Given the description of an element on the screen output the (x, y) to click on. 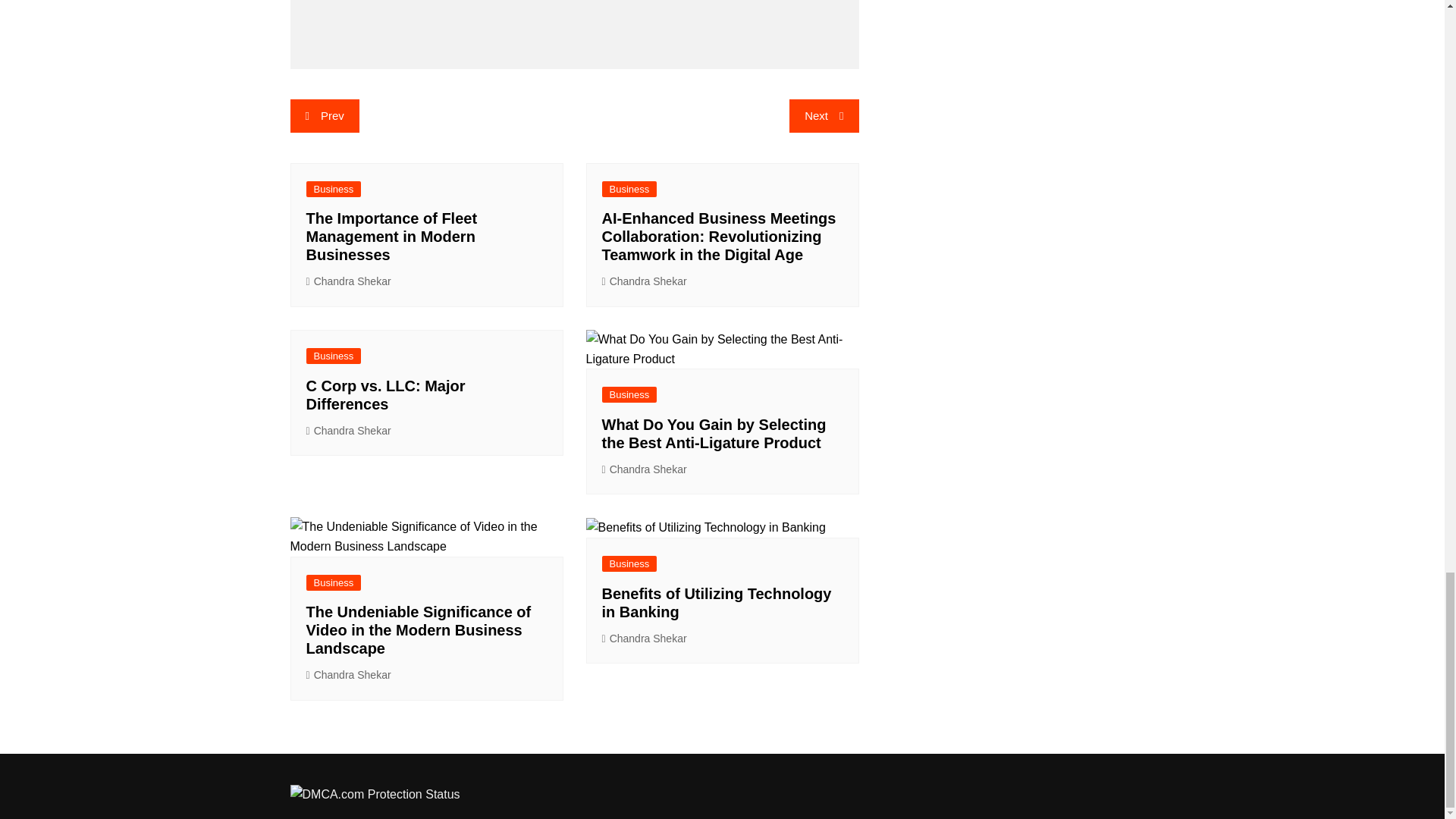
Business (333, 188)
Business (630, 394)
C Corp vs. LLC: Major Differences (385, 394)
Chandra Shekar (348, 281)
Chandra Shekar (644, 281)
Prev (323, 115)
Next (824, 115)
Business (630, 188)
Chandra Shekar (644, 469)
